Given the description of an element on the screen output the (x, y) to click on. 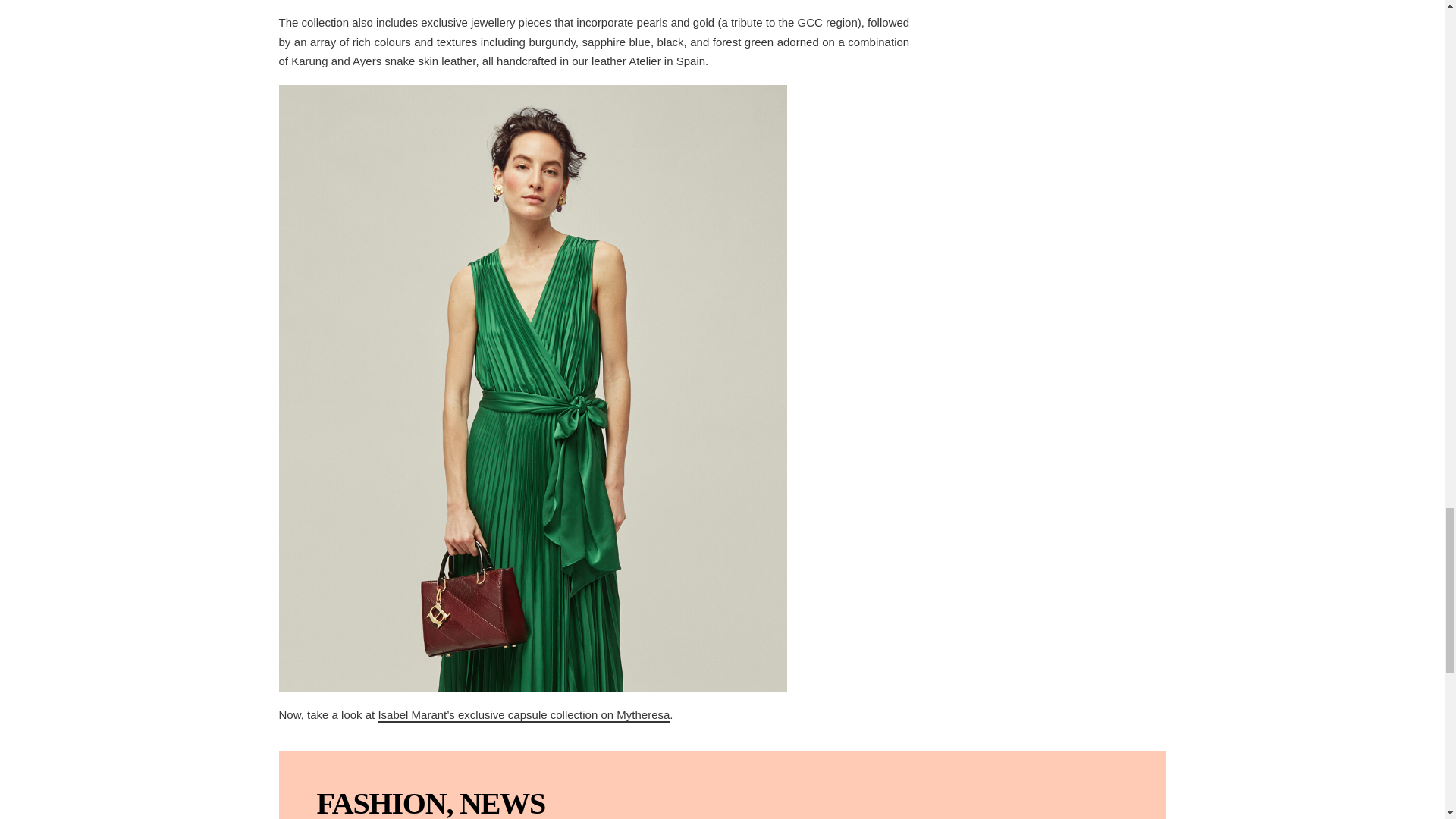
FASHION (381, 802)
NEWS (502, 802)
